Given the description of an element on the screen output the (x, y) to click on. 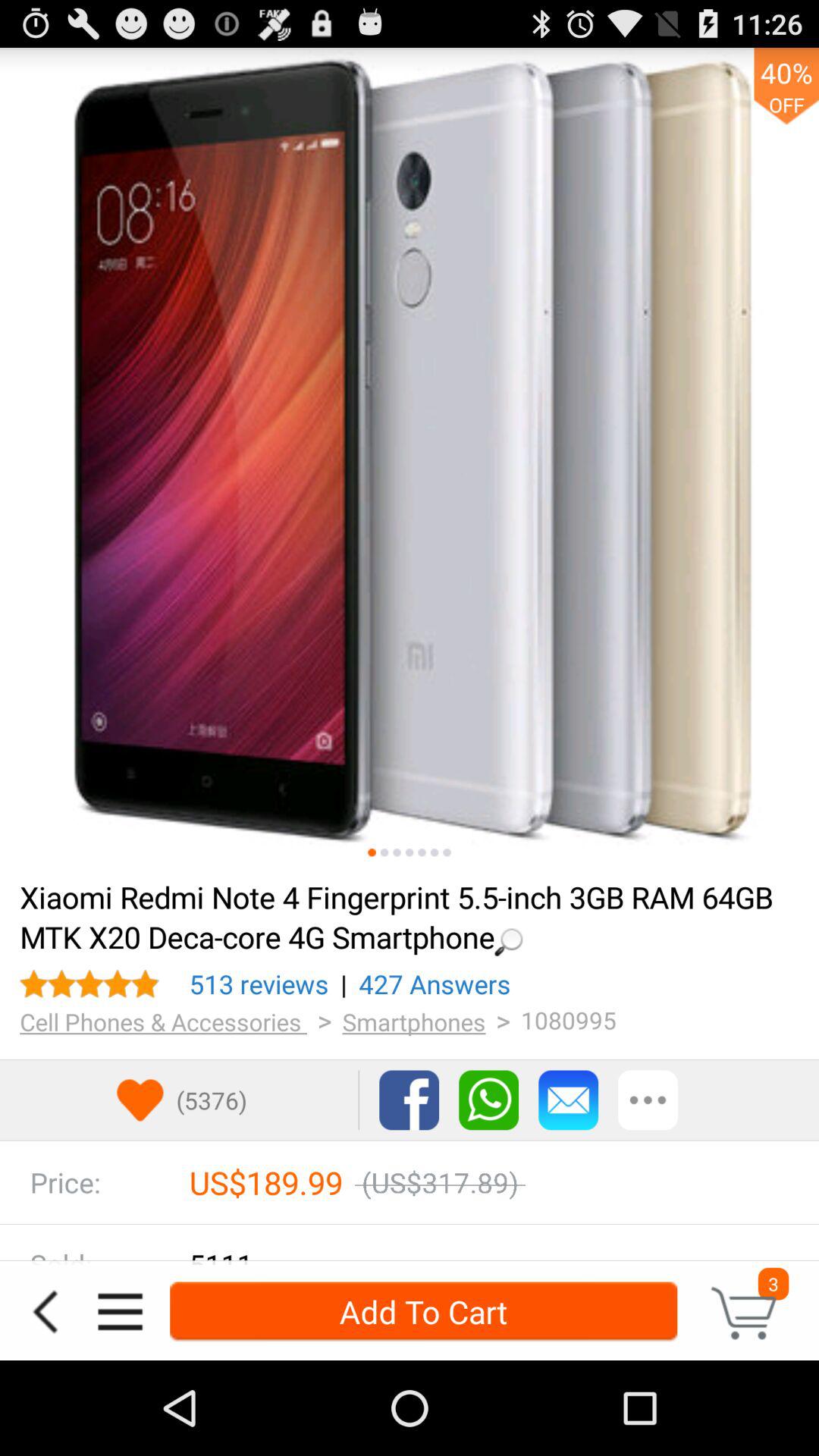
go to website (409, 456)
